Given the description of an element on the screen output the (x, y) to click on. 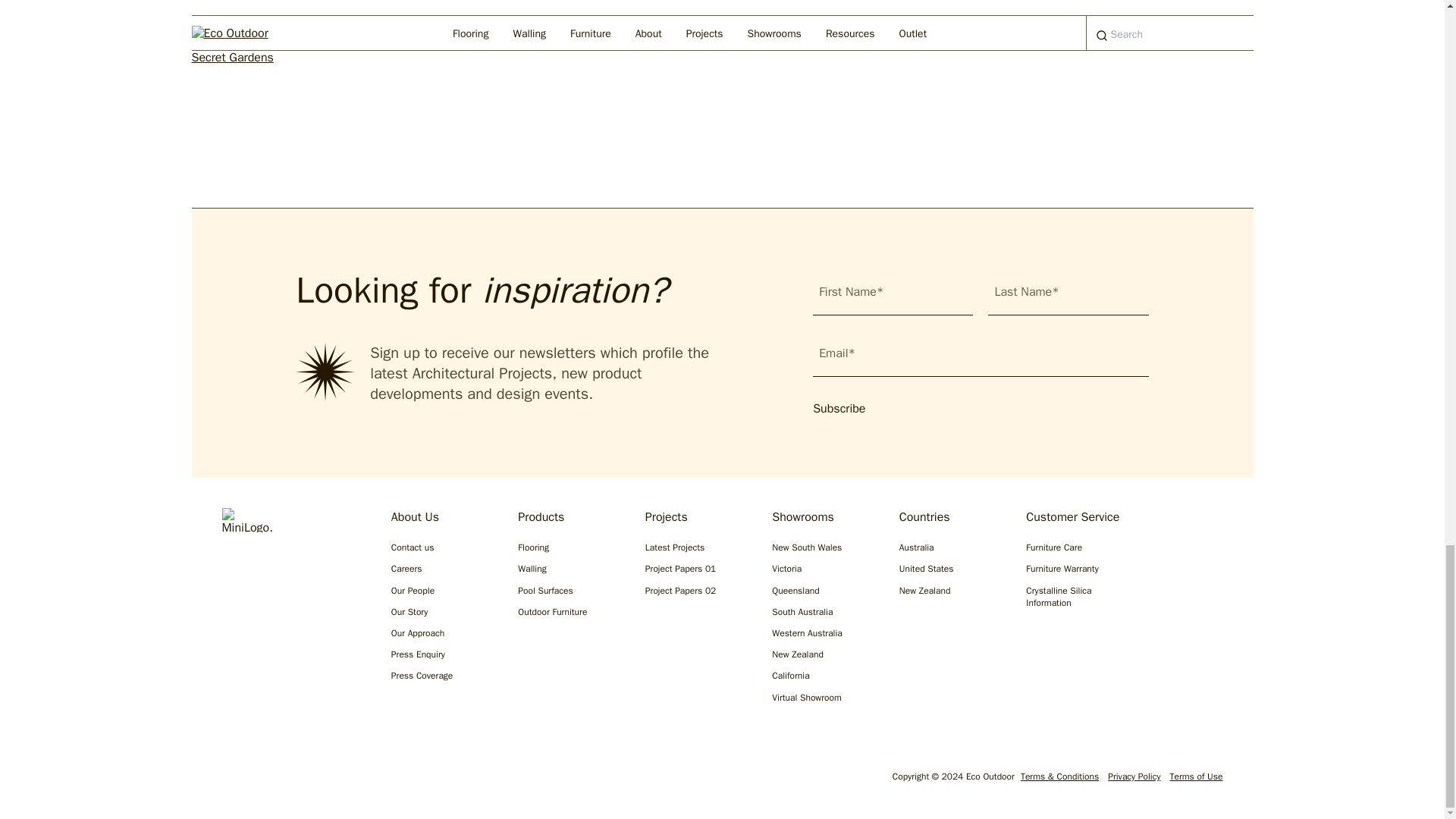
Facebook (278, 779)
YouTube (375, 779)
MiniLogo.svg (245, 519)
LinkedIn (327, 779)
Instagram (230, 779)
